Given the description of an element on the screen output the (x, y) to click on. 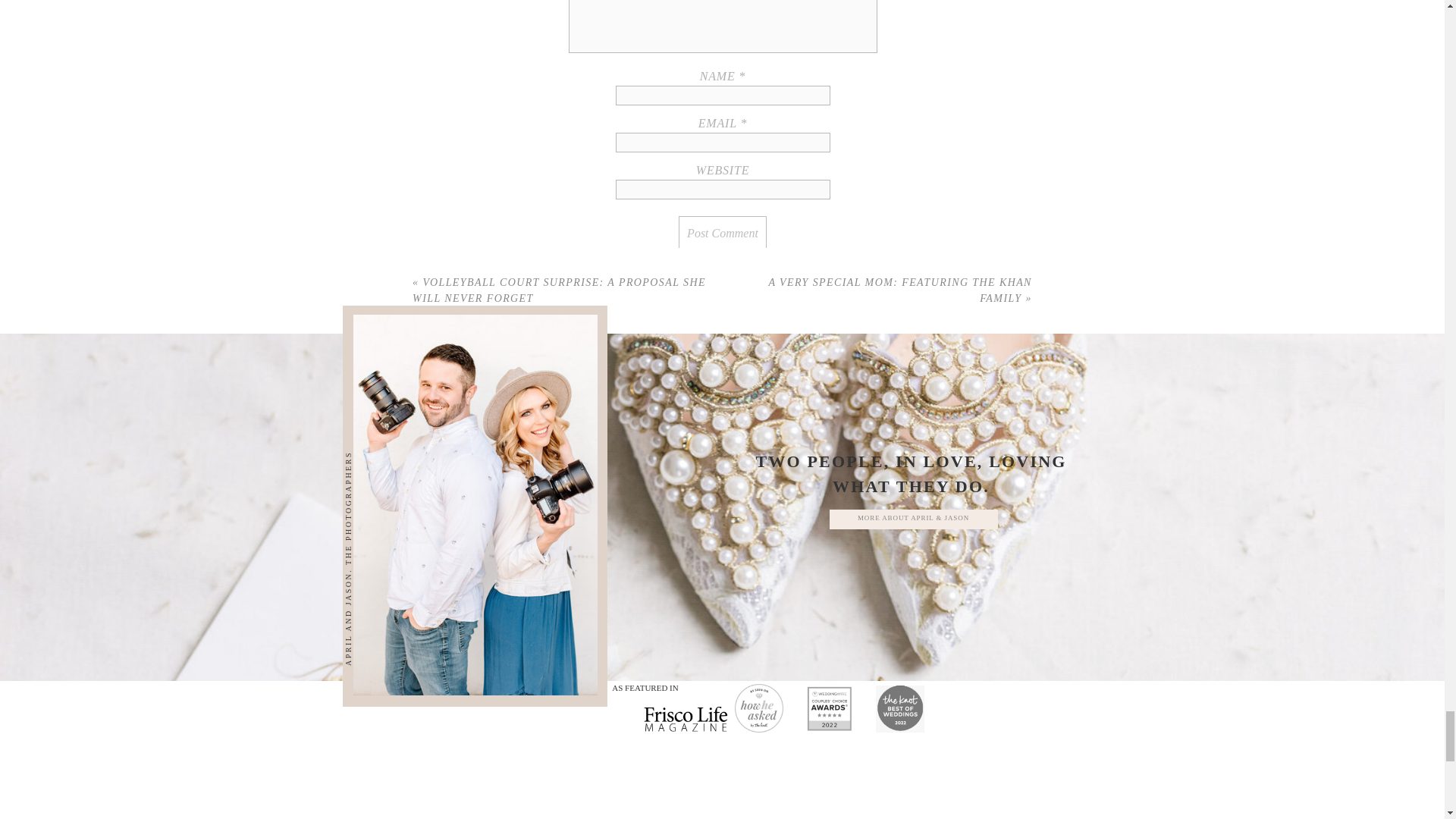
Post Comment (722, 233)
Post Comment (722, 233)
A VERY SPECIAL MOM: FEATURING THE KHAN FAMILY (899, 289)
VOLLEYBALL COURT SURPRISE: A PROPOSAL SHE WILL NEVER FORGET (559, 289)
